Given the description of an element on the screen output the (x, y) to click on. 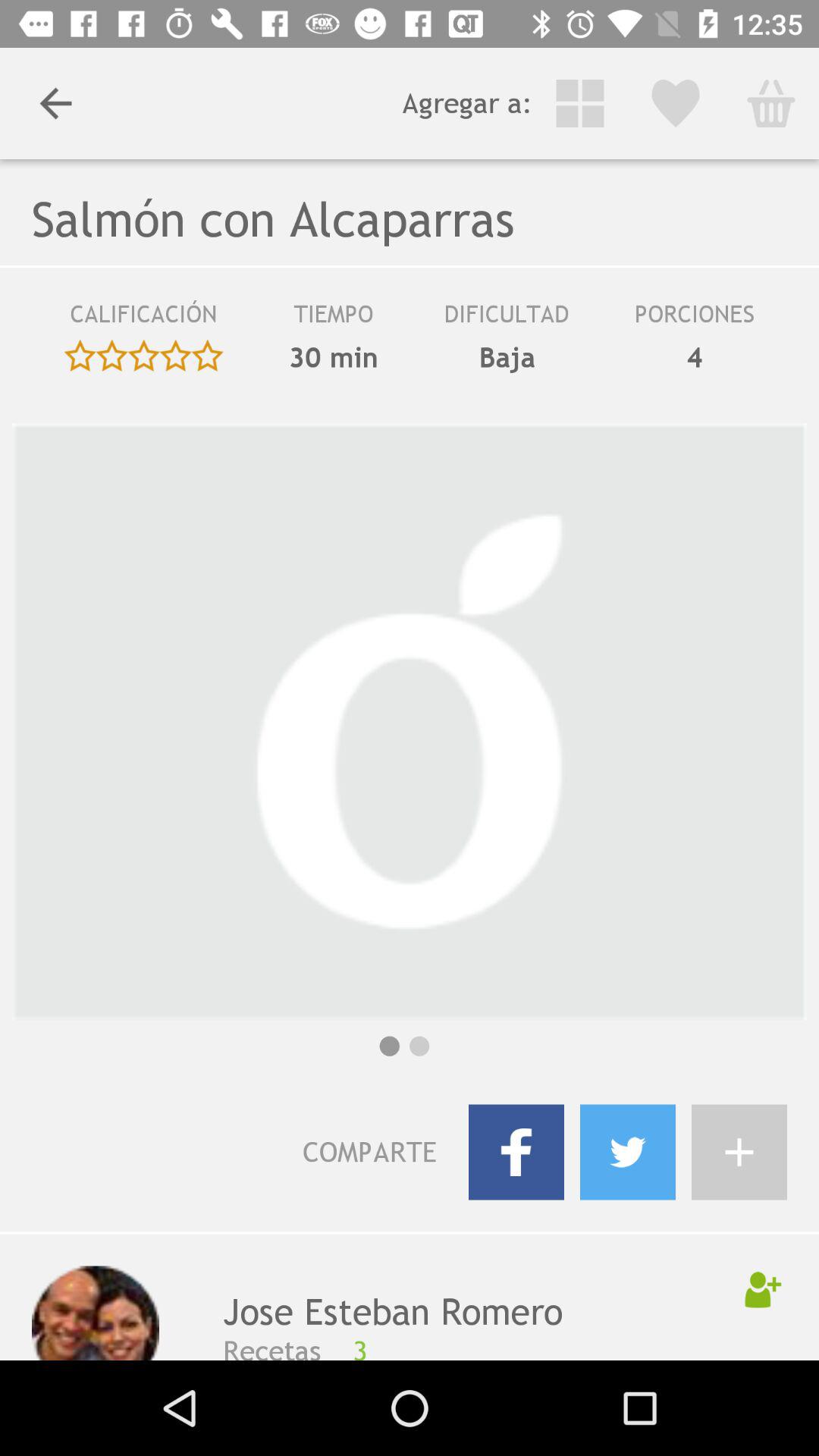
select the item next to recetas item (545, 1347)
